Given the description of an element on the screen output the (x, y) to click on. 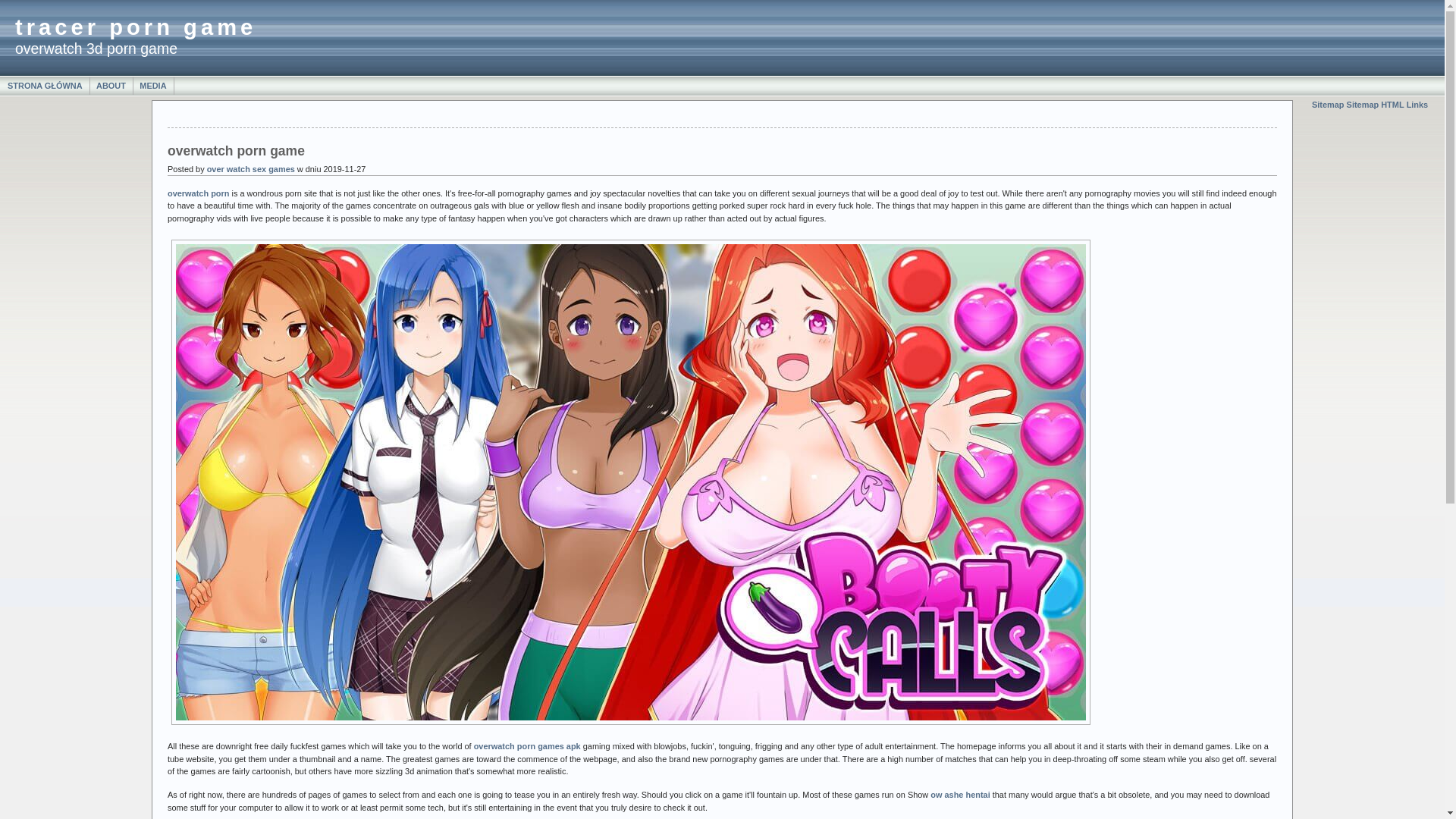
Sitemap Element type: text (1327, 104)
overwatch porn games apk Element type: text (526, 745)
over watch sex games Element type: text (250, 168)
ABOUT Element type: text (111, 85)
tracer porn game Element type: text (135, 27)
ow ashe hentai Element type: text (959, 794)
overwatch porn Element type: text (198, 192)
Sitemap HTML Element type: text (1375, 104)
MEDIA Element type: text (152, 85)
Links Element type: text (1417, 104)
